Given the description of an element on the screen output the (x, y) to click on. 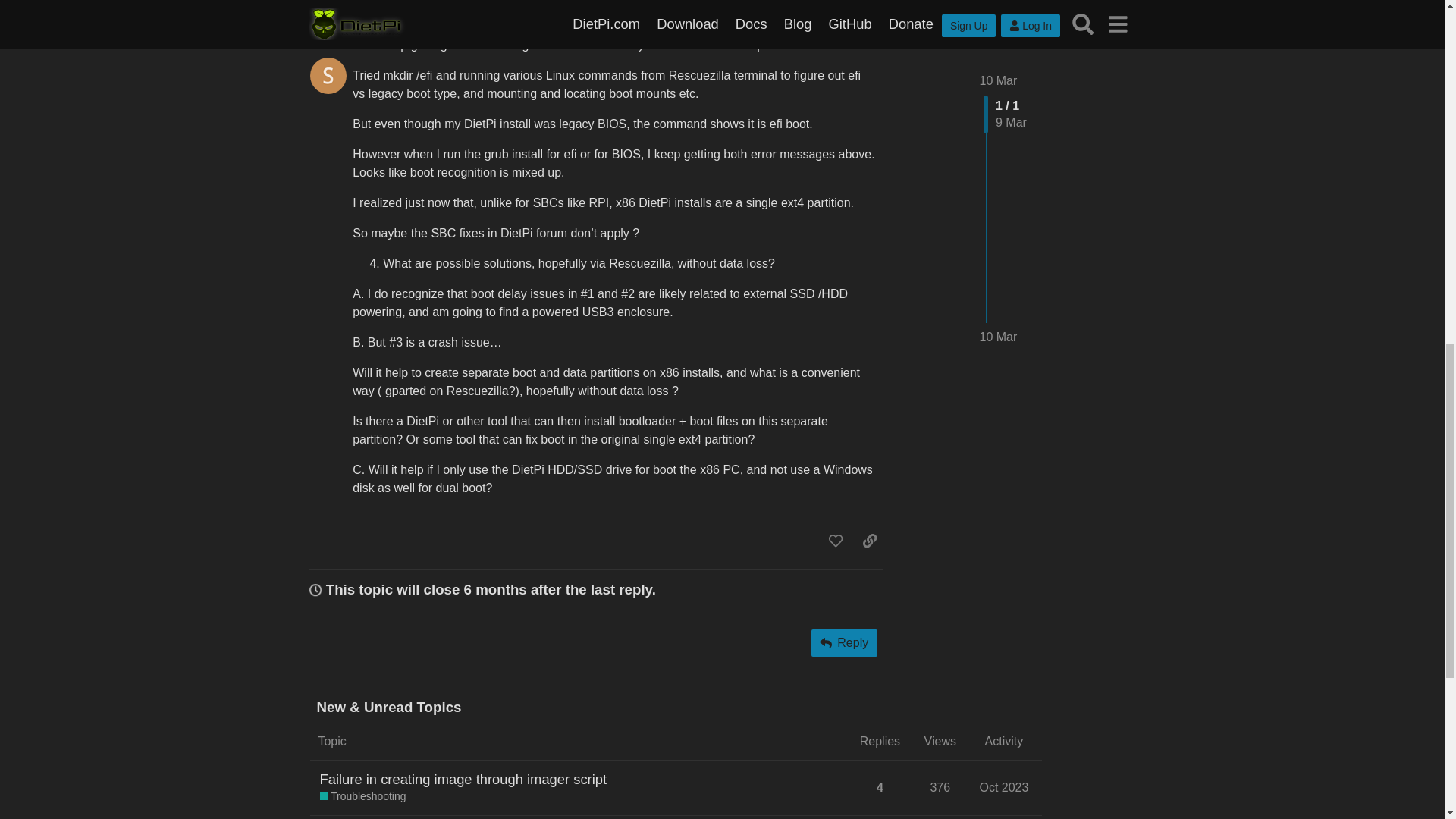
Troubleshooting (363, 796)
like this post (835, 540)
Oct 2023 (1003, 787)
Reply (843, 642)
Failure in creating image through imager script (463, 779)
